Given the description of an element on the screen output the (x, y) to click on. 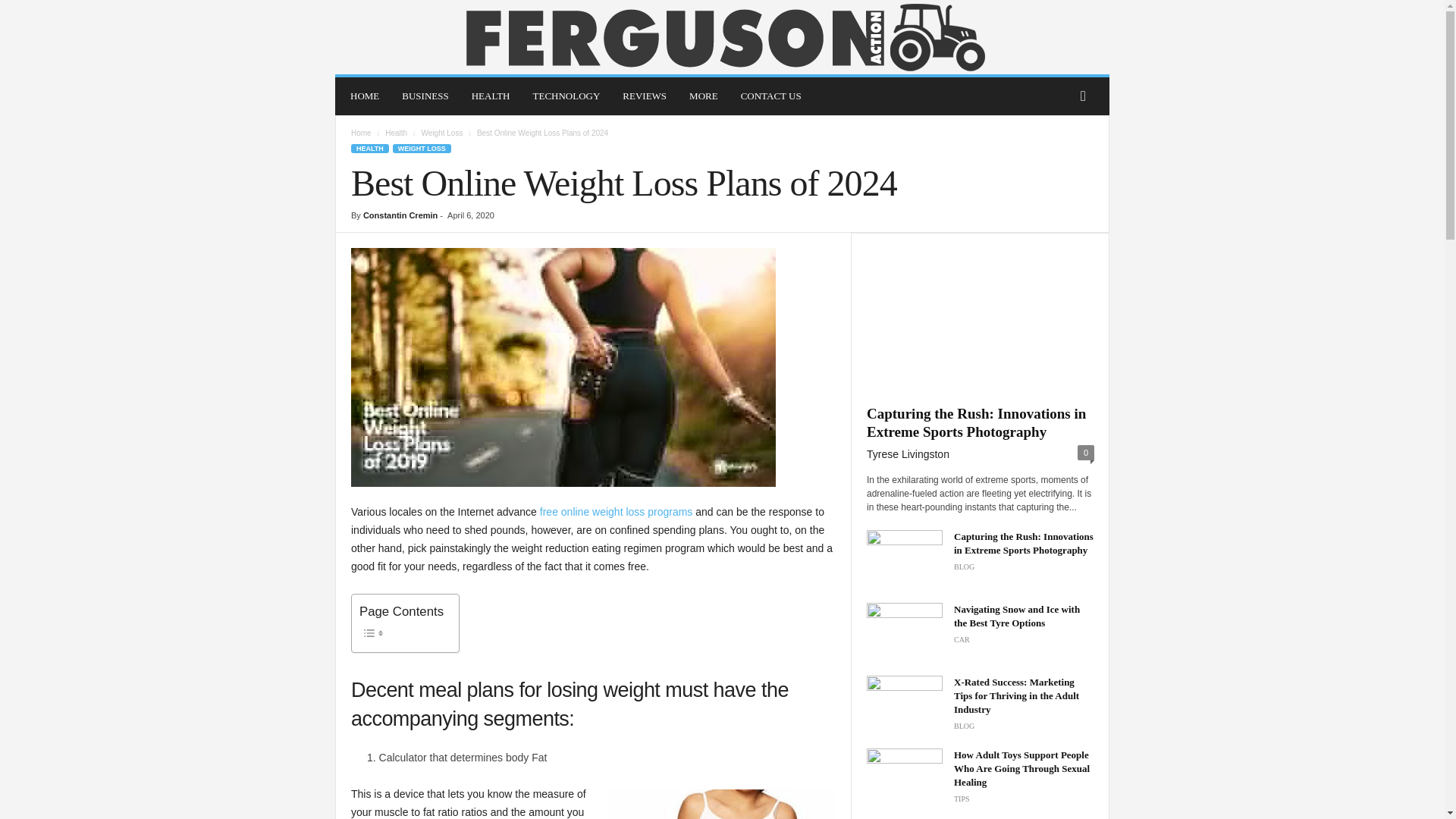
BUSINESS (425, 95)
HOME (364, 95)
Ferguson Action 2024 (721, 37)
